Given the description of an element on the screen output the (x, y) to click on. 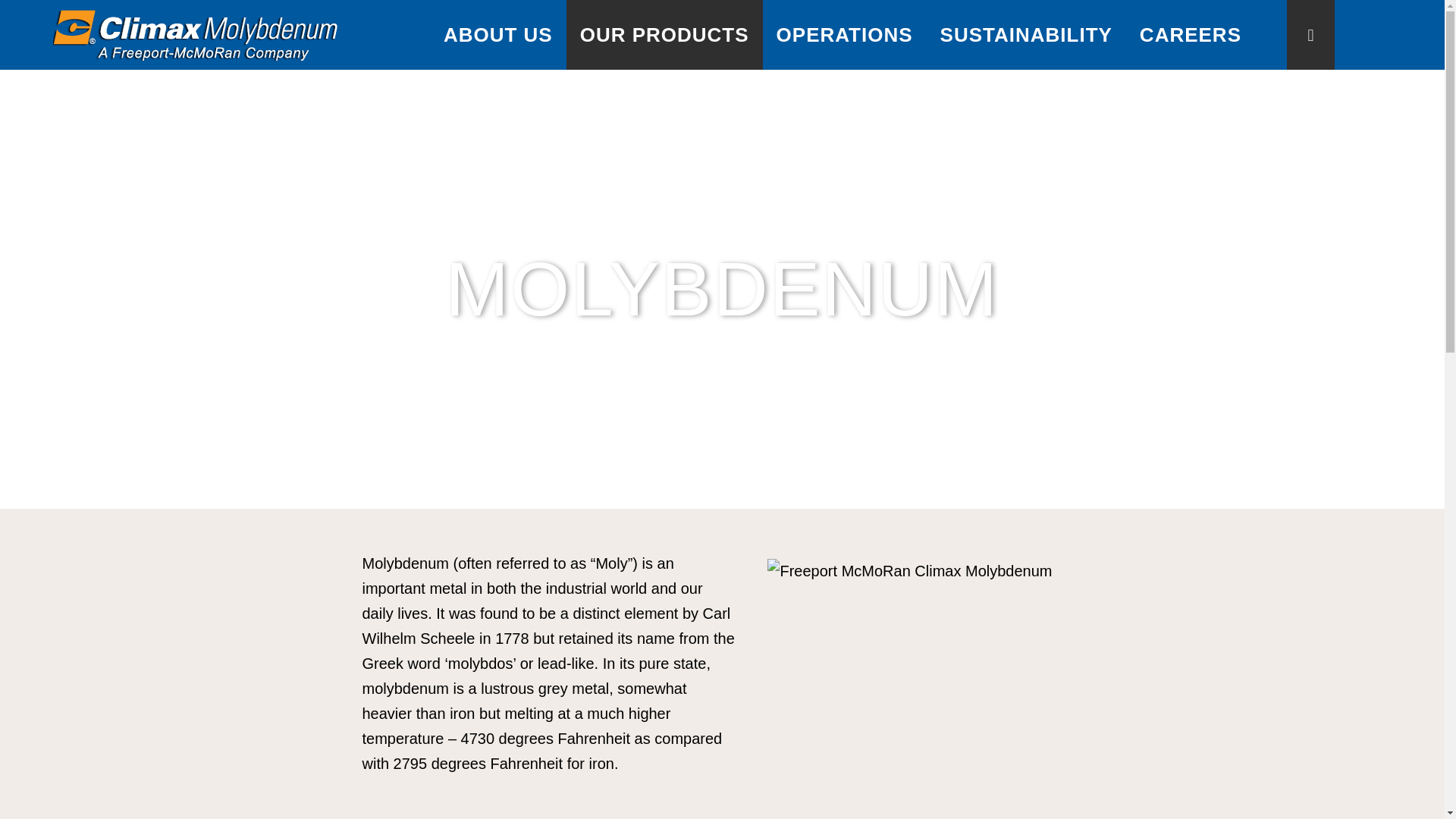
OPERATIONS (844, 34)
ABOUT US (497, 34)
SUSTAINABILITY (1025, 34)
OUR PRODUCTS (664, 34)
